Given the description of an element on the screen output the (x, y) to click on. 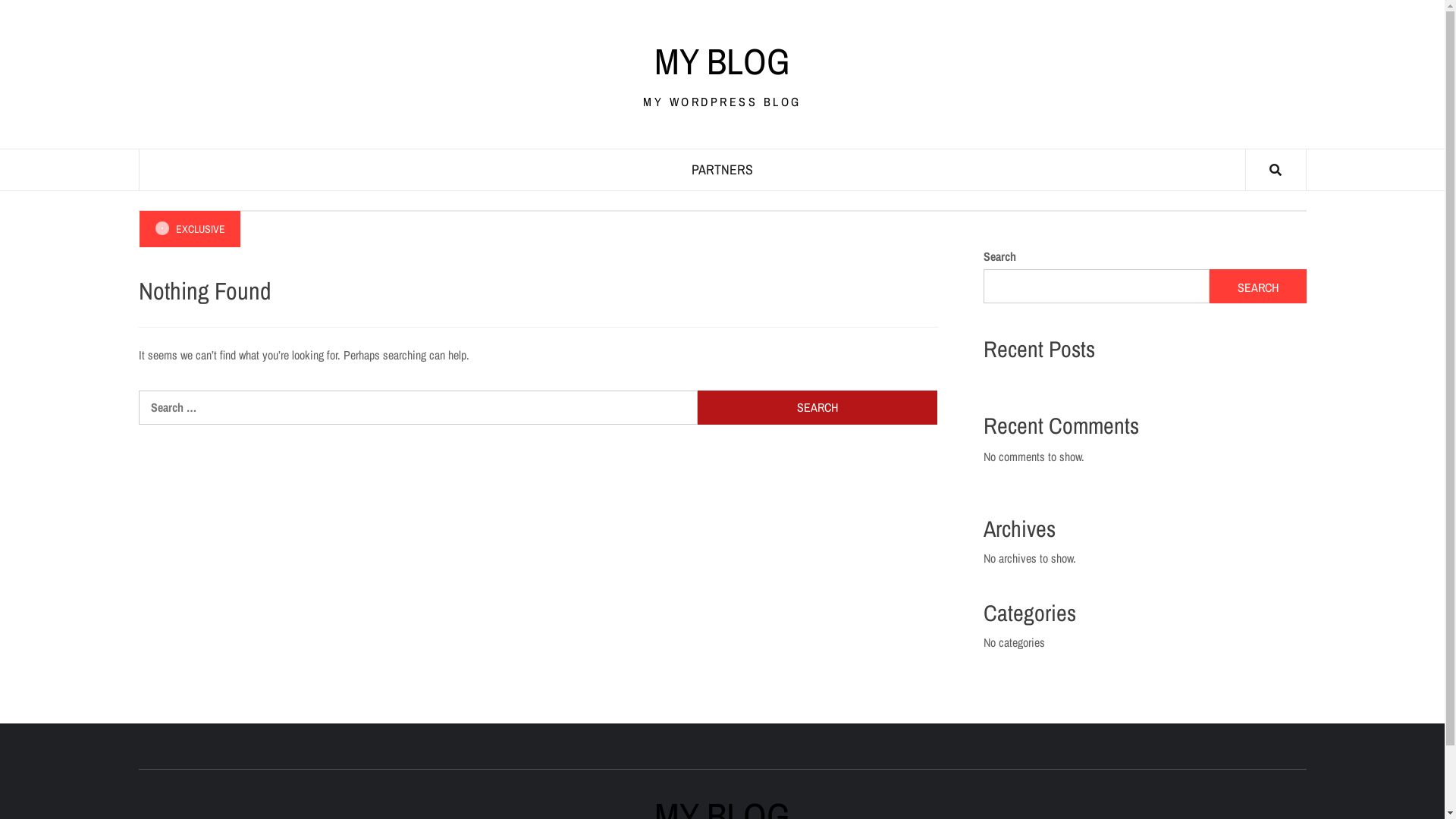
PARTNERS Element type: text (722, 169)
SEARCH Element type: text (1257, 286)
Search Element type: text (817, 407)
MY BLOG Element type: text (721, 60)
